Given the description of an element on the screen output the (x, y) to click on. 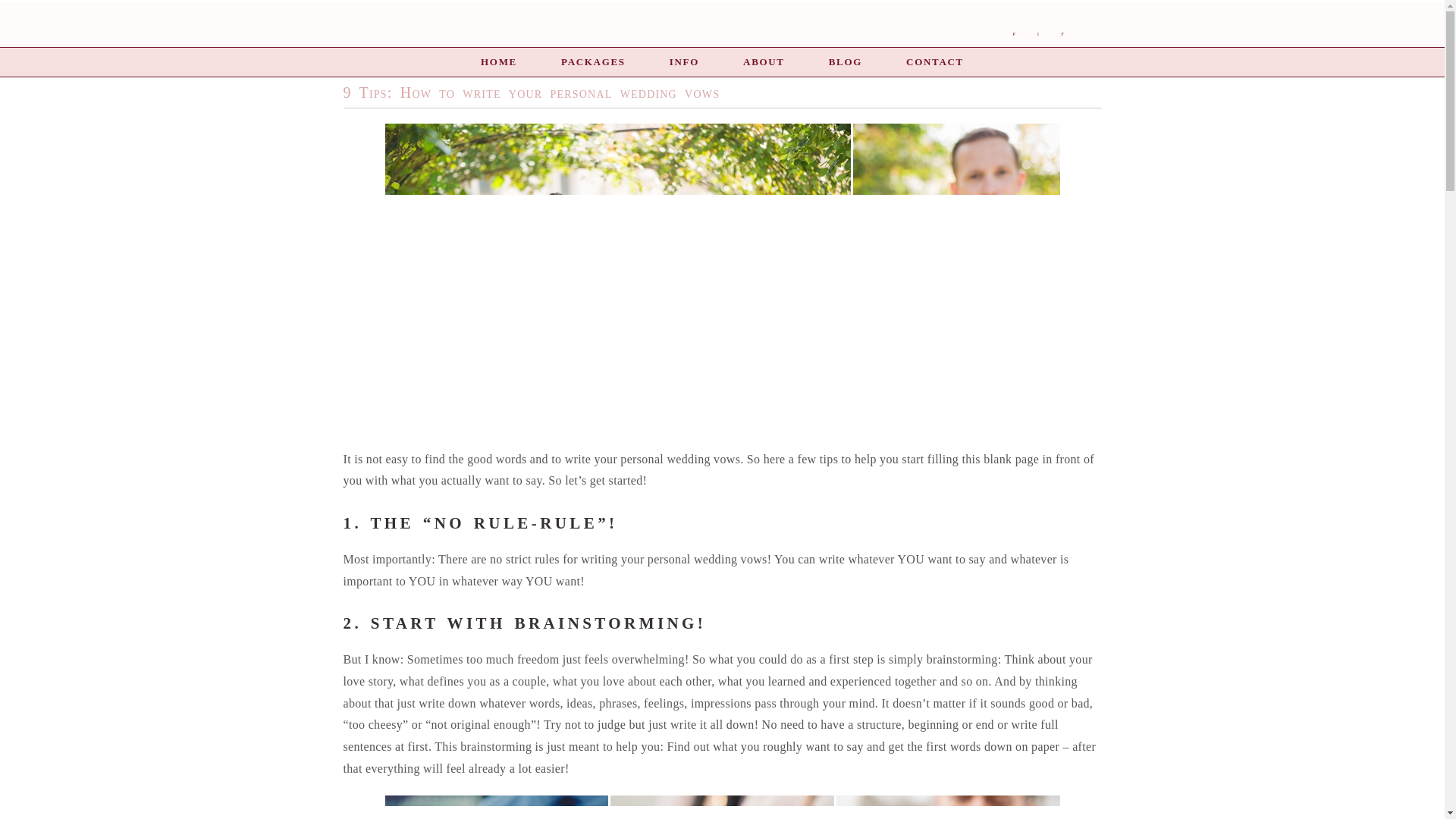
BLOG (844, 61)
ABOUT (763, 61)
CONTACT (934, 61)
P (1014, 35)
I (1037, 35)
HOME (498, 61)
F (1062, 35)
PACKAGES (593, 61)
